Given the description of an element on the screen output the (x, y) to click on. 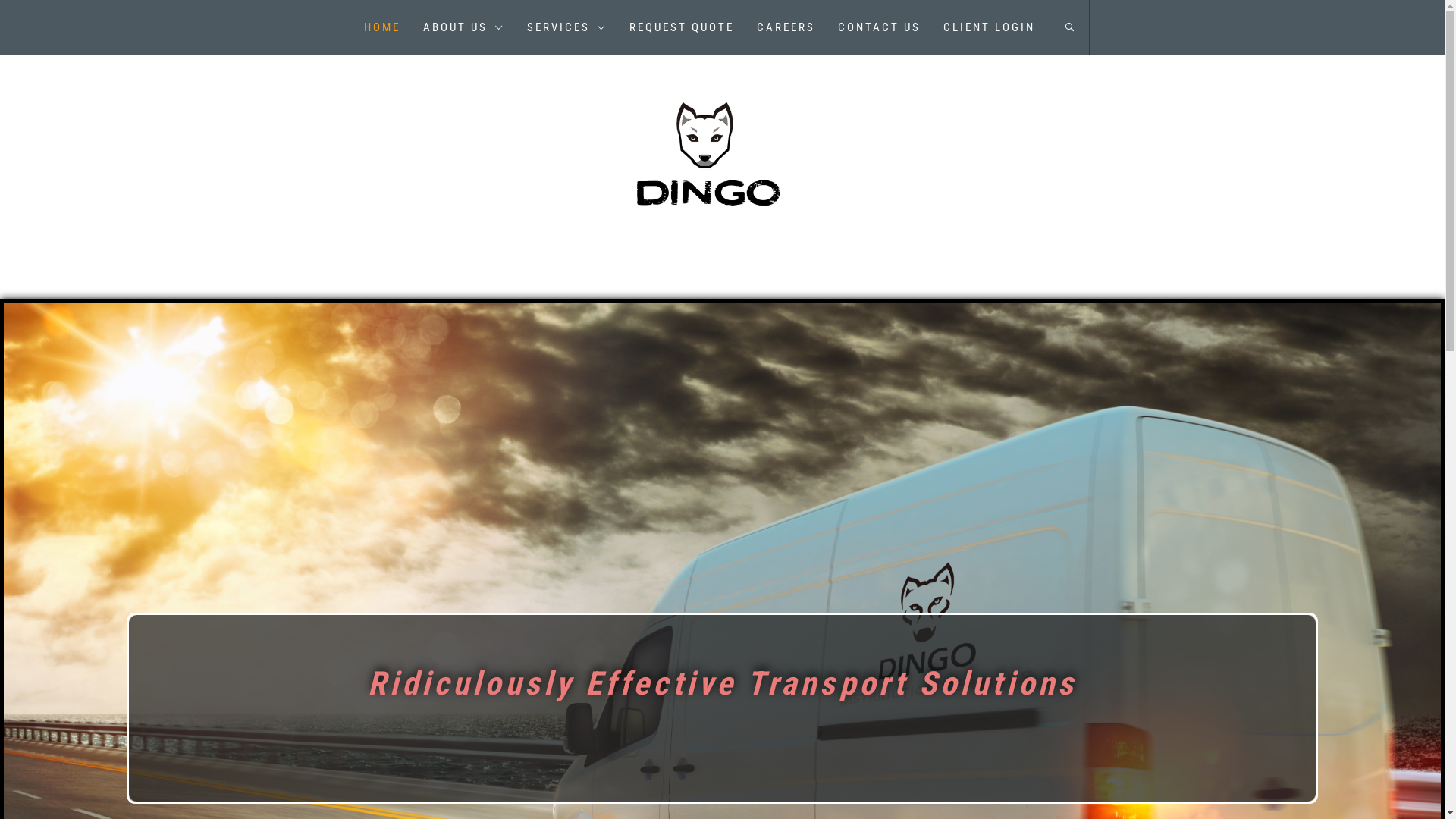
Search Element type: text (797, 408)
CAREERS Element type: text (784, 27)
CONTACT US Element type: text (878, 27)
SERVICES Element type: text (566, 27)
REQUEST QUOTE Element type: text (680, 27)
DINGO DISTRIBUTION SERVICE Element type: text (722, 174)
ABOUT US Element type: text (462, 27)
CLIENT LOGIN Element type: text (988, 27)
HOME Element type: text (381, 27)
